Given the description of an element on the screen output the (x, y) to click on. 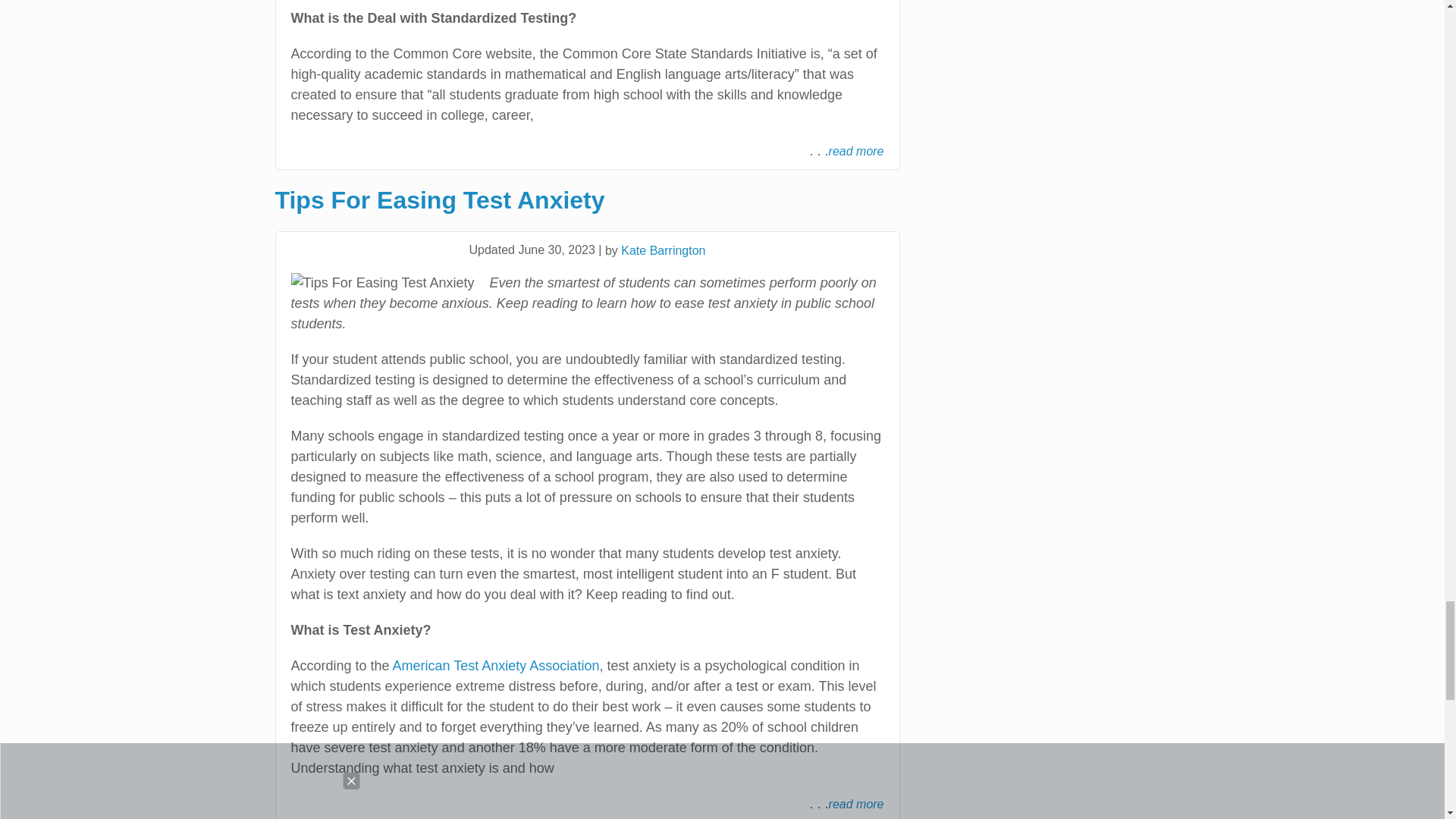
read more (855, 150)
Tips For Easing Test Anxiety (382, 282)
Kate Barrington (662, 250)
Tips For Easing Test Anxiety (587, 201)
American Test Anxiety Association (496, 665)
